Given the description of an element on the screen output the (x, y) to click on. 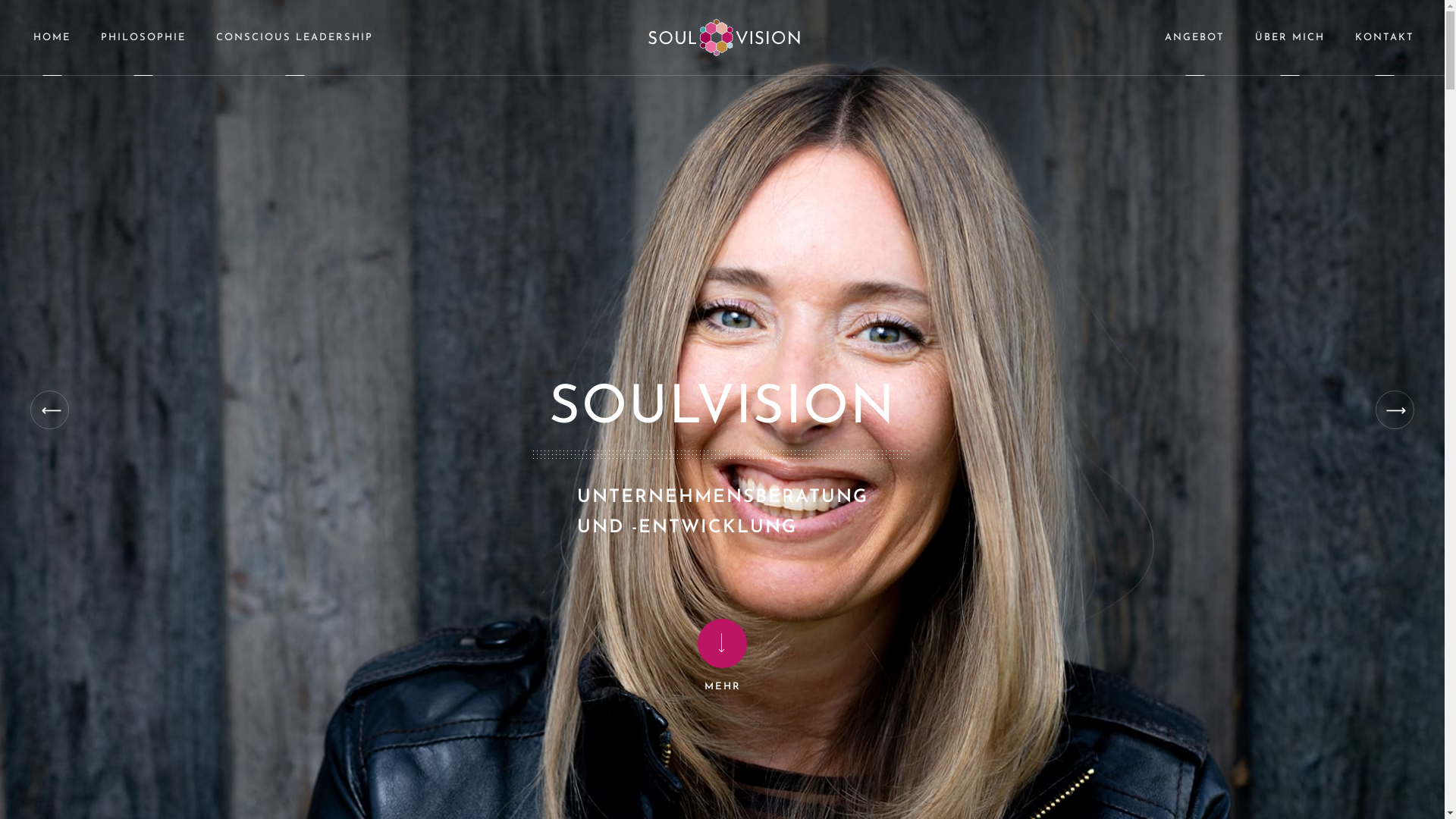
ANGEBOT Element type: text (1194, 37)
HOME Element type: text (51, 37)
KONTAKT Element type: text (1384, 37)
CONSCIOUS LEADERSHIP Element type: text (294, 37)
PHILOSOPHIE Element type: text (142, 37)
